Given the description of an element on the screen output the (x, y) to click on. 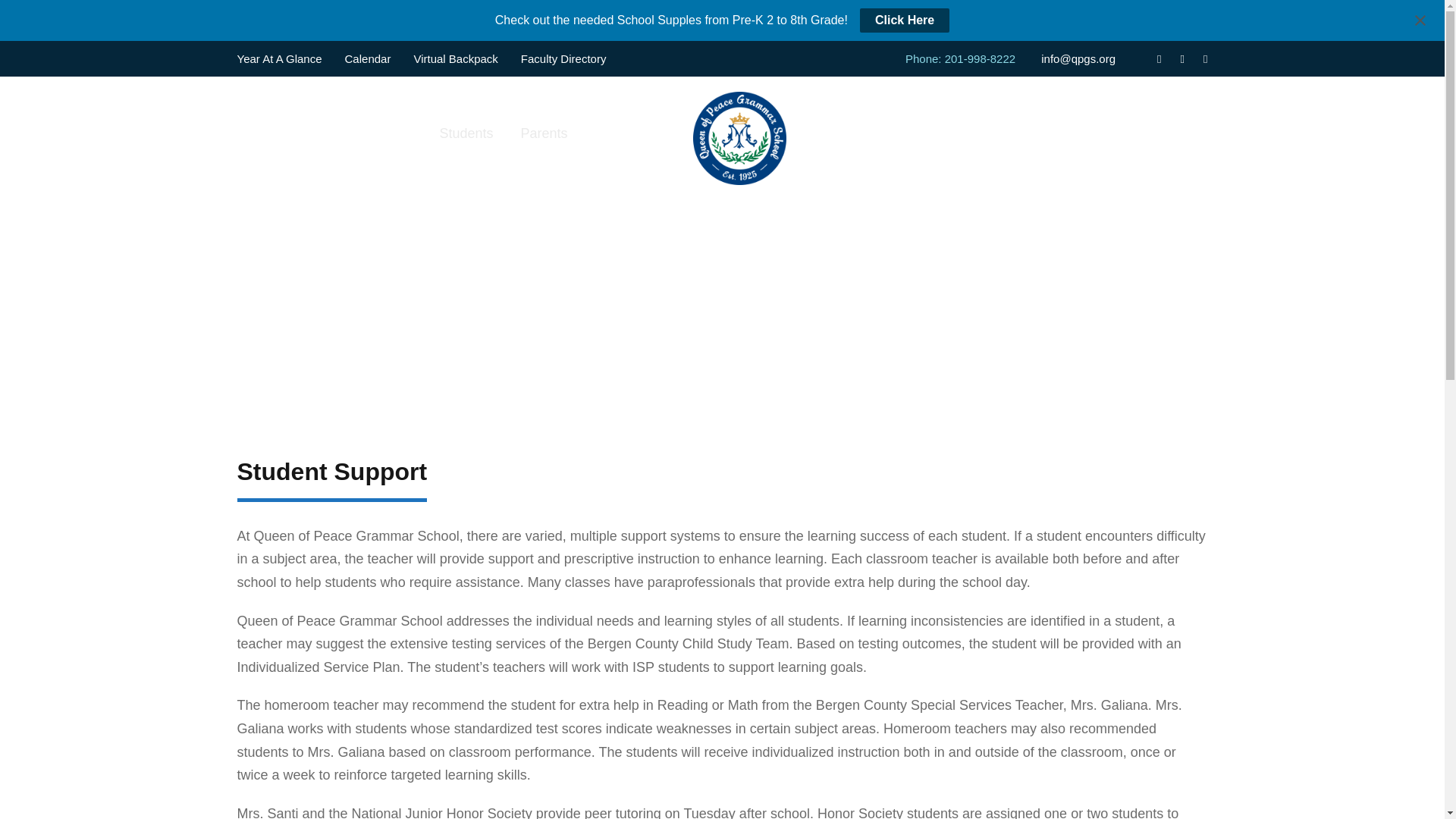
Faculty Directory (564, 58)
Virtual Backpack (455, 58)
Year At A Glance (278, 58)
Click Here (904, 20)
Admissions (377, 125)
Calendar (368, 58)
